Given the description of an element on the screen output the (x, y) to click on. 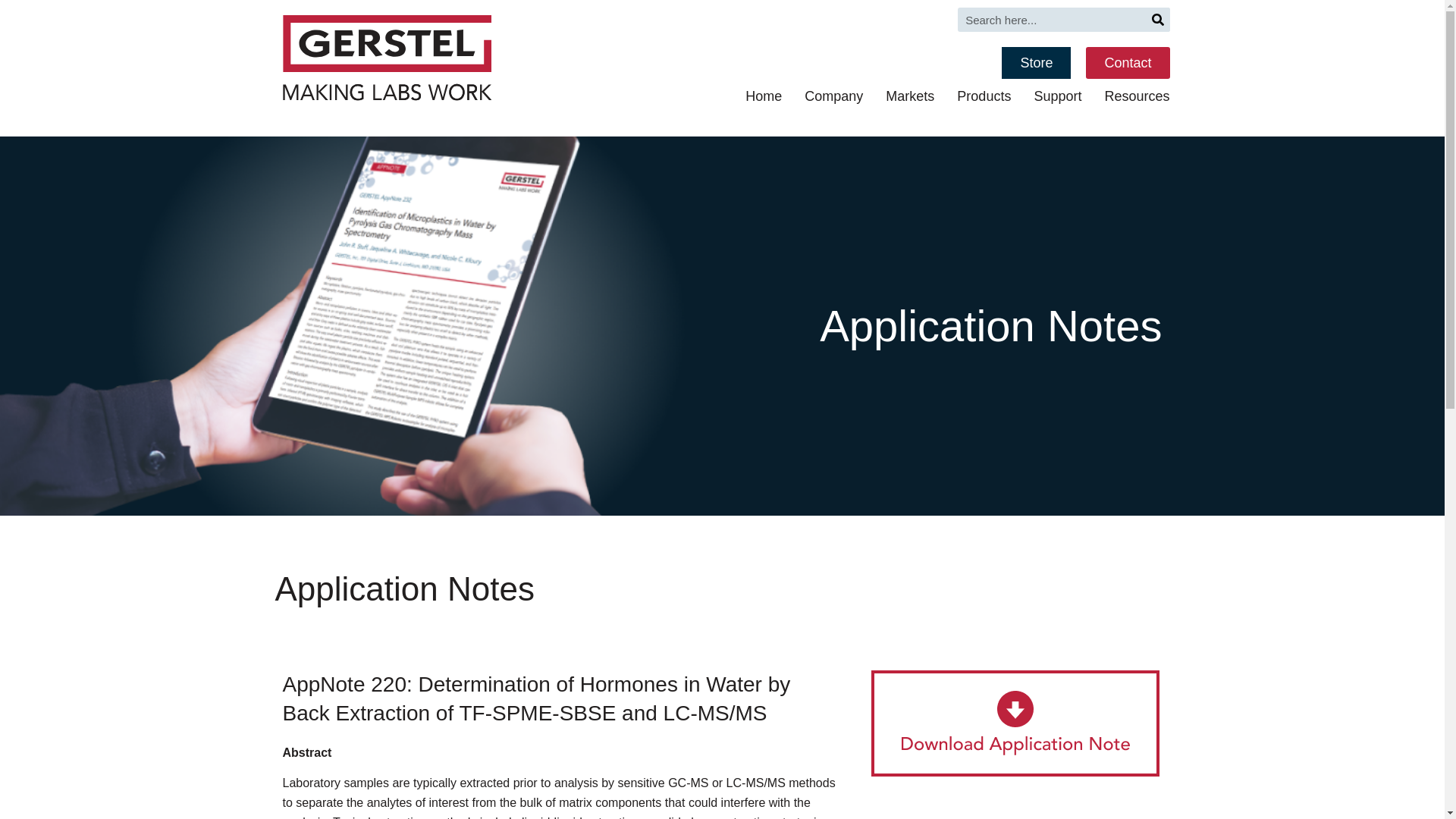
Products (983, 95)
Markets (909, 95)
Contact (1127, 62)
Support (1057, 95)
Home (763, 95)
Company (834, 95)
Store (1035, 62)
